Given the description of an element on the screen output the (x, y) to click on. 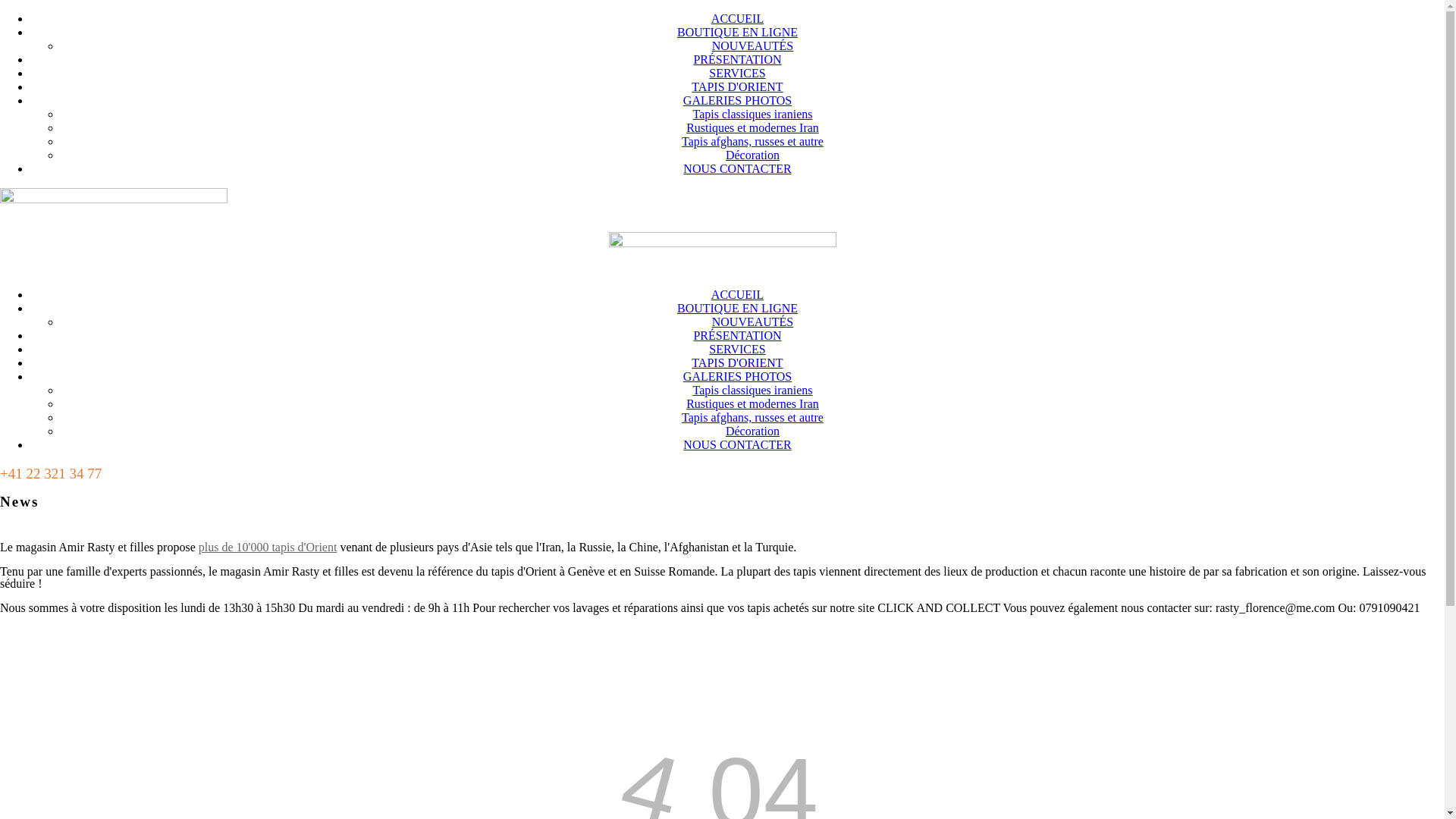
Tapis classiques iraniens Element type: text (752, 389)
Rustiques et modernes Iran Element type: text (752, 403)
TAPIS D'ORIENT Element type: text (736, 86)
GALERIES PHOTOS Element type: text (737, 376)
BOUTIQUE EN LIGNE Element type: text (737, 31)
ACCUEIL Element type: text (737, 294)
GALERIES PHOTOS Element type: text (737, 100)
Rustiques et modernes Iran Element type: text (752, 127)
ACCUEIL Element type: text (737, 18)
Tapis afghans, russes et autre Element type: text (752, 417)
TAPIS D'ORIENT Element type: text (736, 362)
Tapis classiques iraniens Element type: text (752, 113)
BOUTIQUE EN LIGNE Element type: text (737, 307)
plus de 10'000 tapis d'Orient Element type: text (267, 546)
SERVICES Element type: text (737, 72)
Tapis afghans, russes et autre Element type: text (752, 140)
SERVICES Element type: text (737, 348)
NOUS CONTACTER Element type: text (736, 168)
NOUS CONTACTER Element type: text (736, 444)
